Given the description of an element on the screen output the (x, y) to click on. 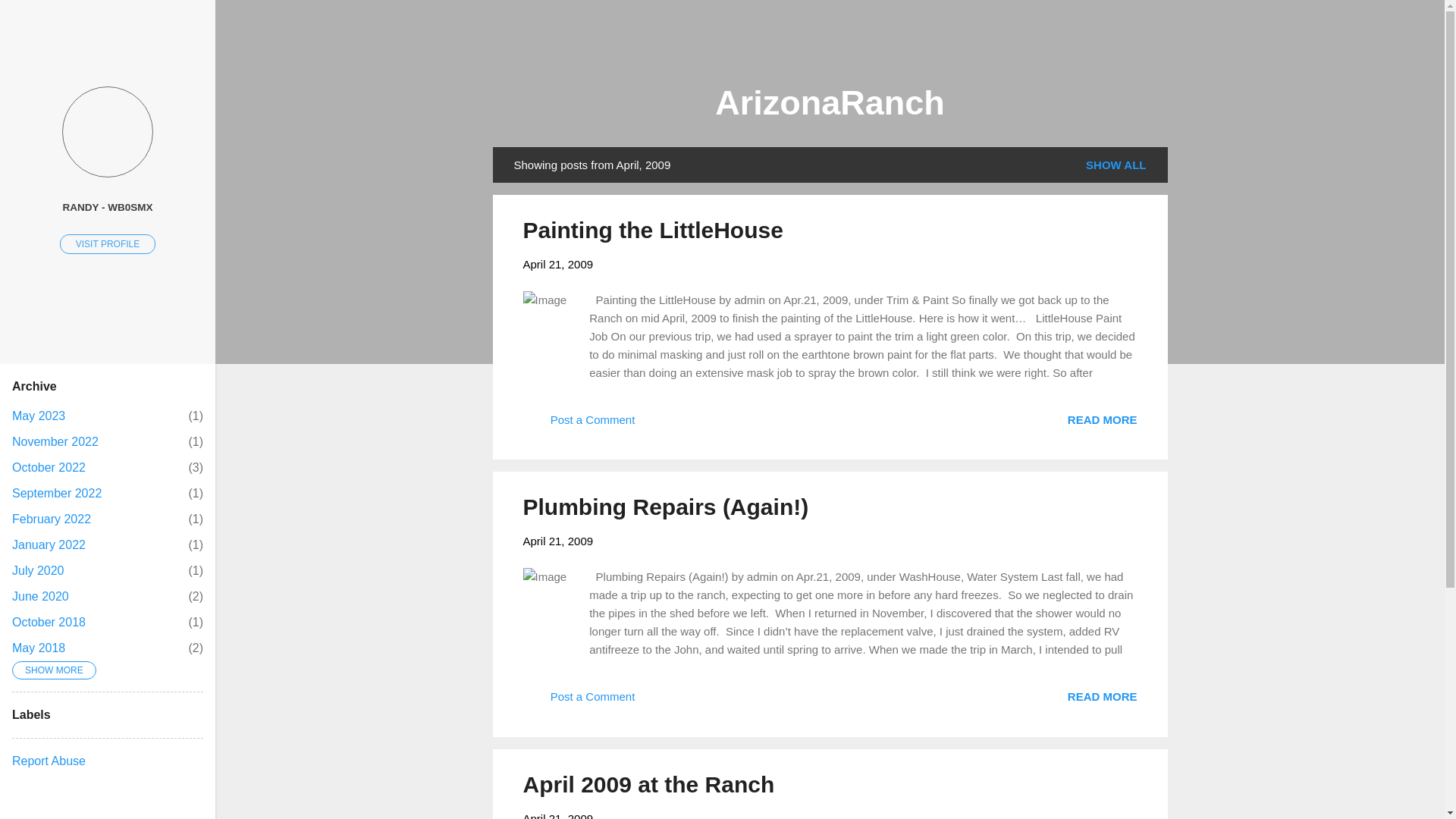
Post a Comment (578, 424)
Painting the LittleHouse (1102, 418)
permanent link (558, 264)
April 21, 2009 (55, 440)
READ MORE (558, 264)
READ MORE (1102, 418)
Post a Comment (50, 518)
